Given the description of an element on the screen output the (x, y) to click on. 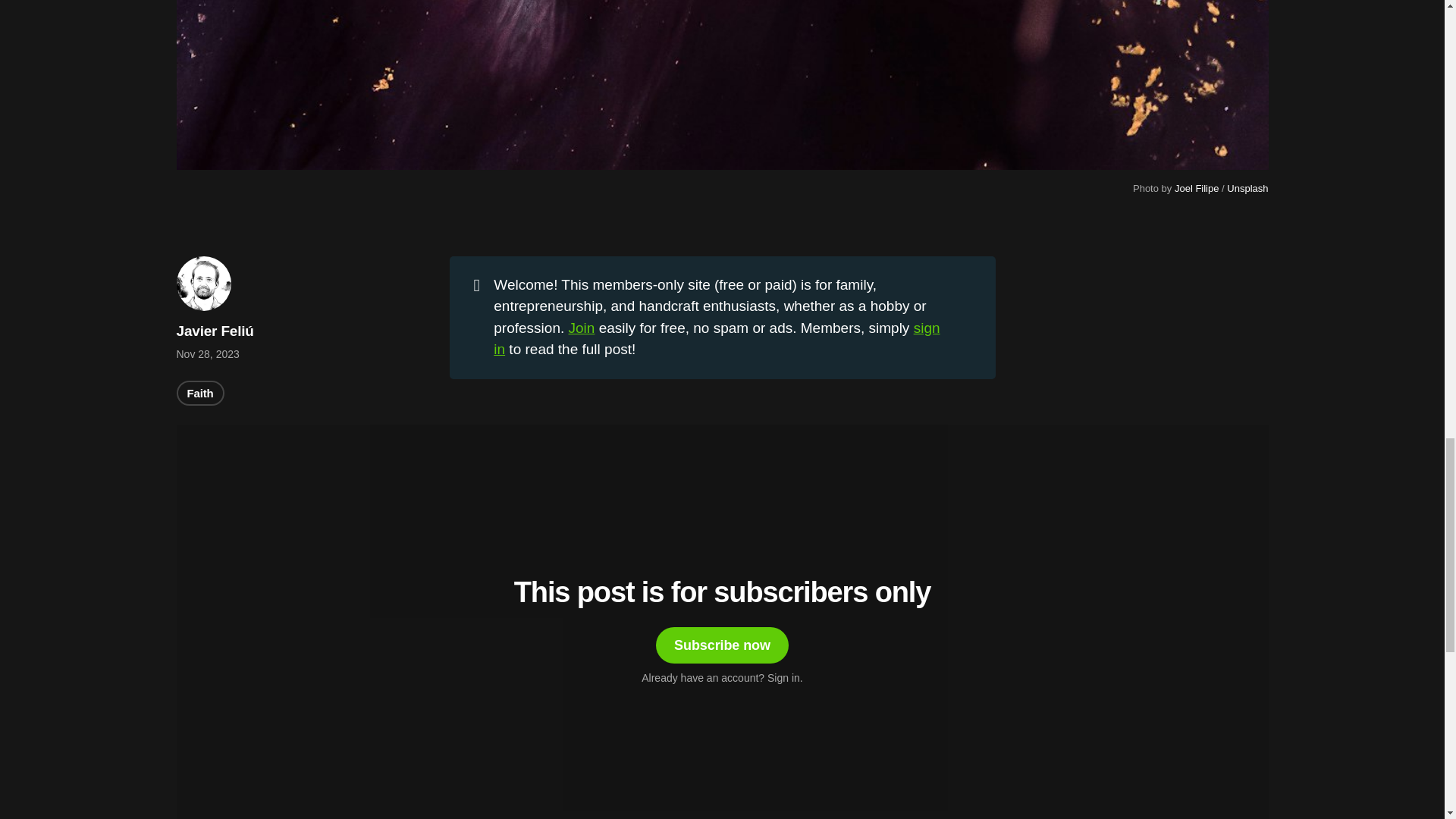
Subscribe now (722, 645)
Unsplash (1247, 188)
Join (582, 327)
Joel Filipe (1197, 188)
Faith (200, 393)
sign in (716, 338)
